Given the description of an element on the screen output the (x, y) to click on. 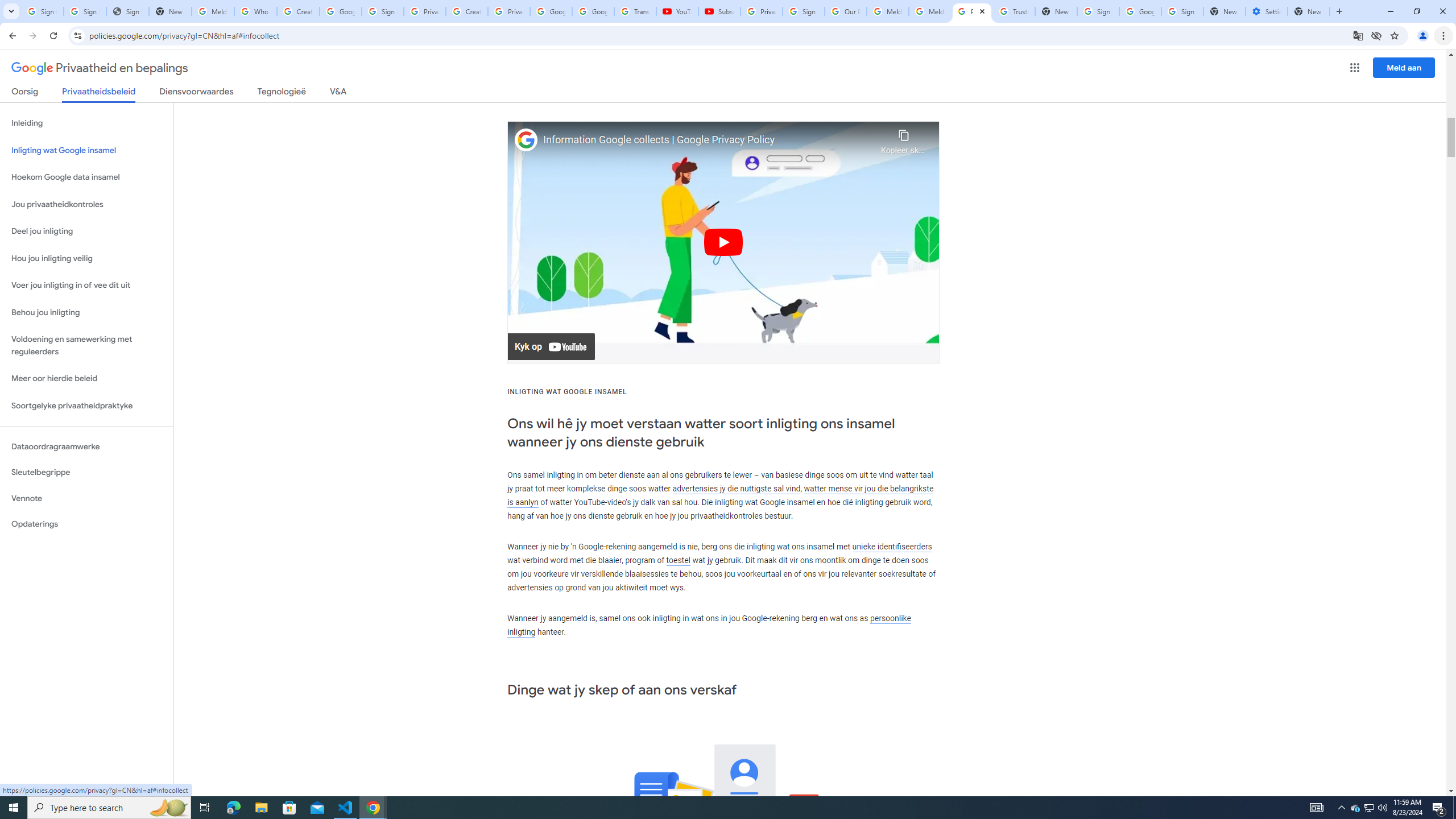
Sleutelbegrippe (86, 472)
V&A (337, 93)
Sign in - Google Accounts (42, 11)
Hoekom Google data insamel (86, 176)
Voldoening en samewerking met reguleerders (86, 345)
Diensvoorwaardes (196, 93)
Create your Google Account (467, 11)
Subscriptions - YouTube (719, 11)
Sign in - Google Accounts (382, 11)
